Given the description of an element on the screen output the (x, y) to click on. 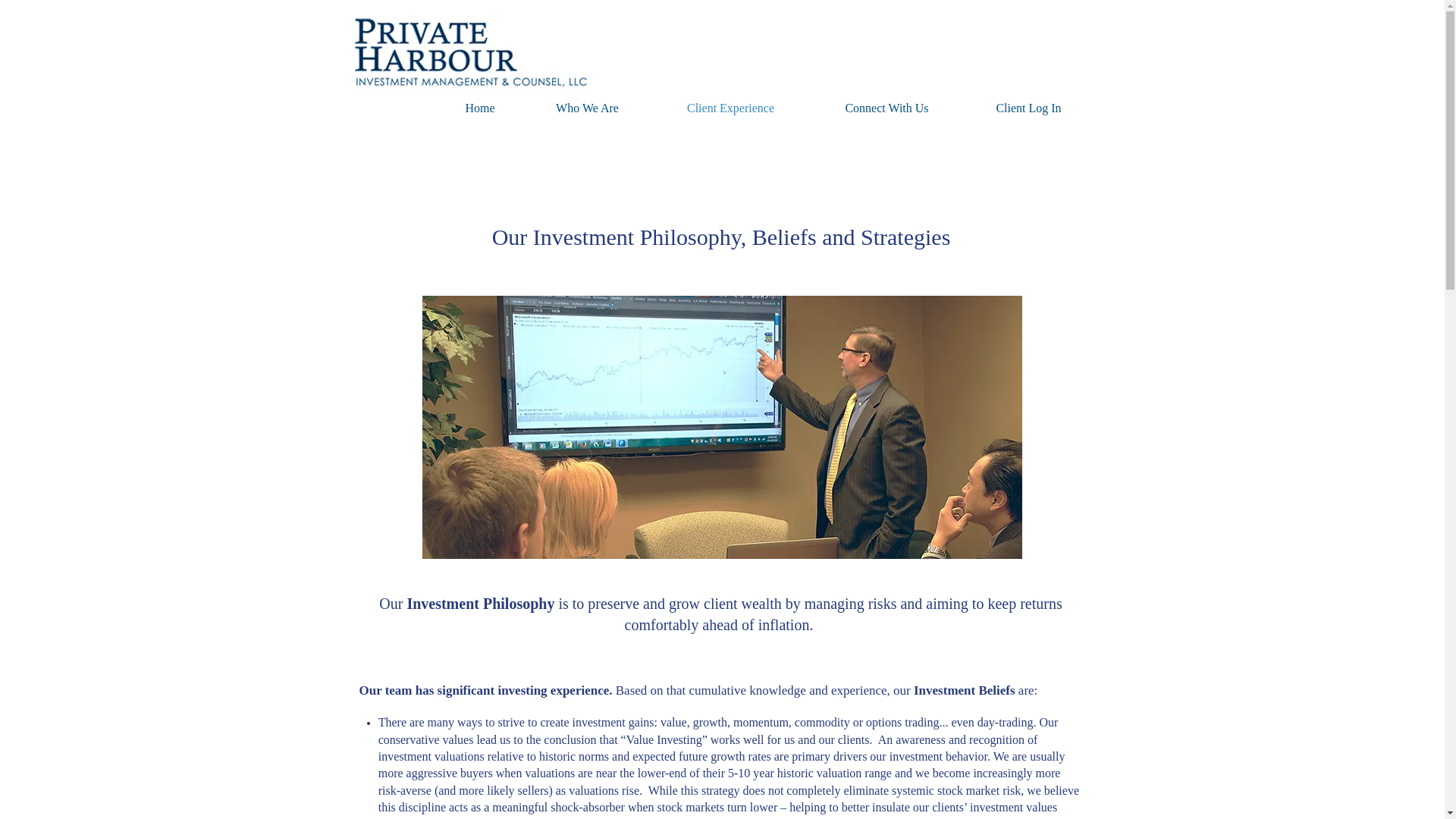
Client Log In (1027, 108)
Client Experience (729, 108)
Home (480, 108)
Who We Are (586, 108)
Connect With Us (885, 108)
